Given the description of an element on the screen output the (x, y) to click on. 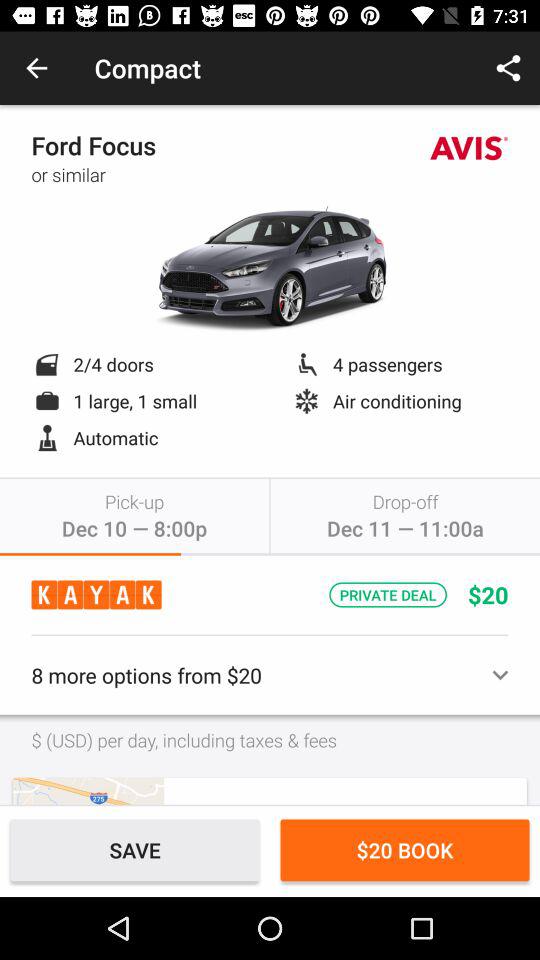
map icon (88, 790)
